Given the description of an element on the screen output the (x, y) to click on. 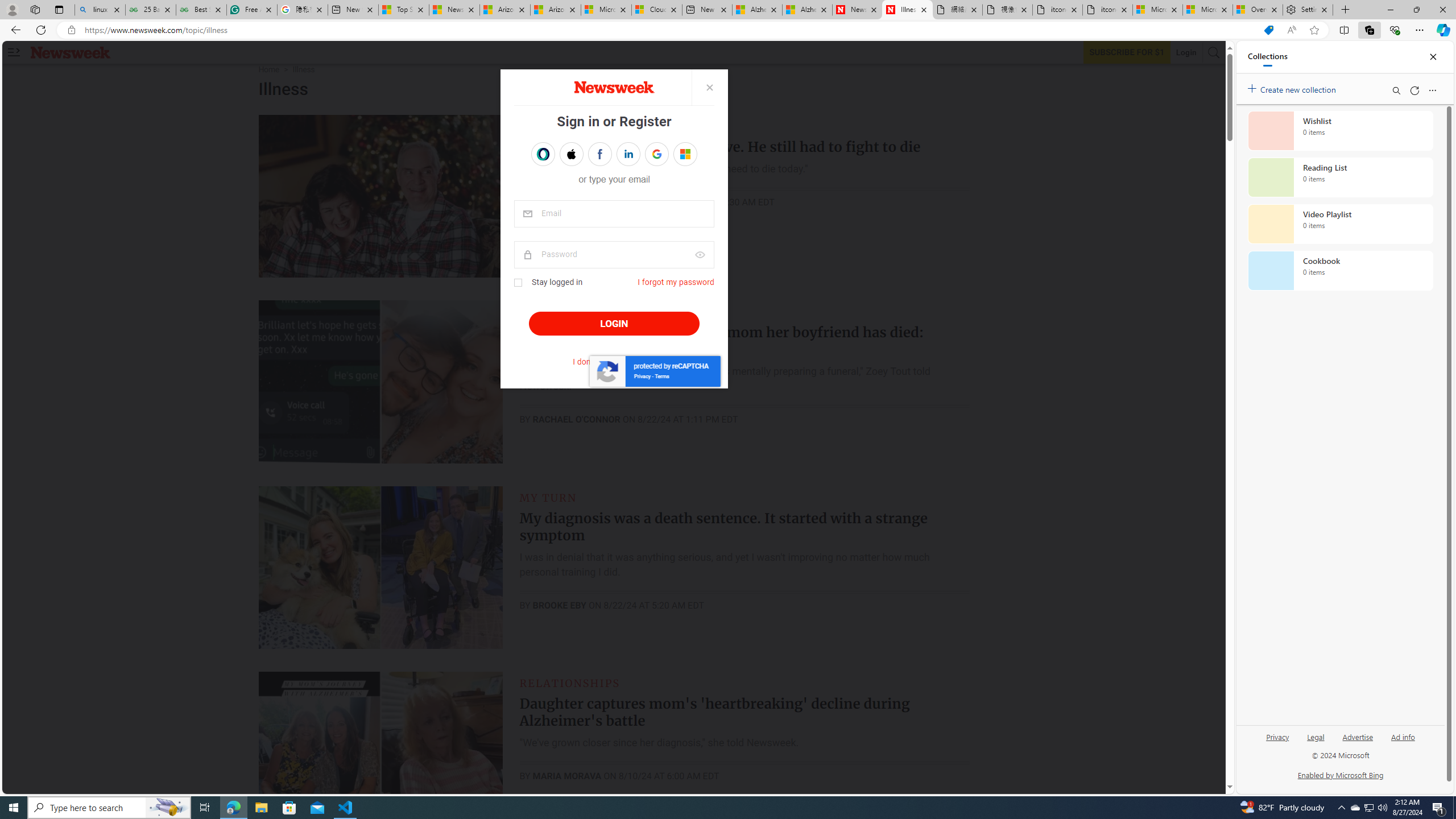
25 Basic Linux Commands For Beginners - GeeksforGeeks (150, 9)
RELATIONSHIPS (569, 682)
AutomationID: search-btn (1213, 51)
Video Playlist collection, 0 items (1339, 223)
LOGIN (613, 323)
More options menu (1432, 90)
Cloud Computing Services | Microsoft Azure (656, 9)
Sign in with OPENPASS (541, 154)
